Given the description of an element on the screen output the (x, y) to click on. 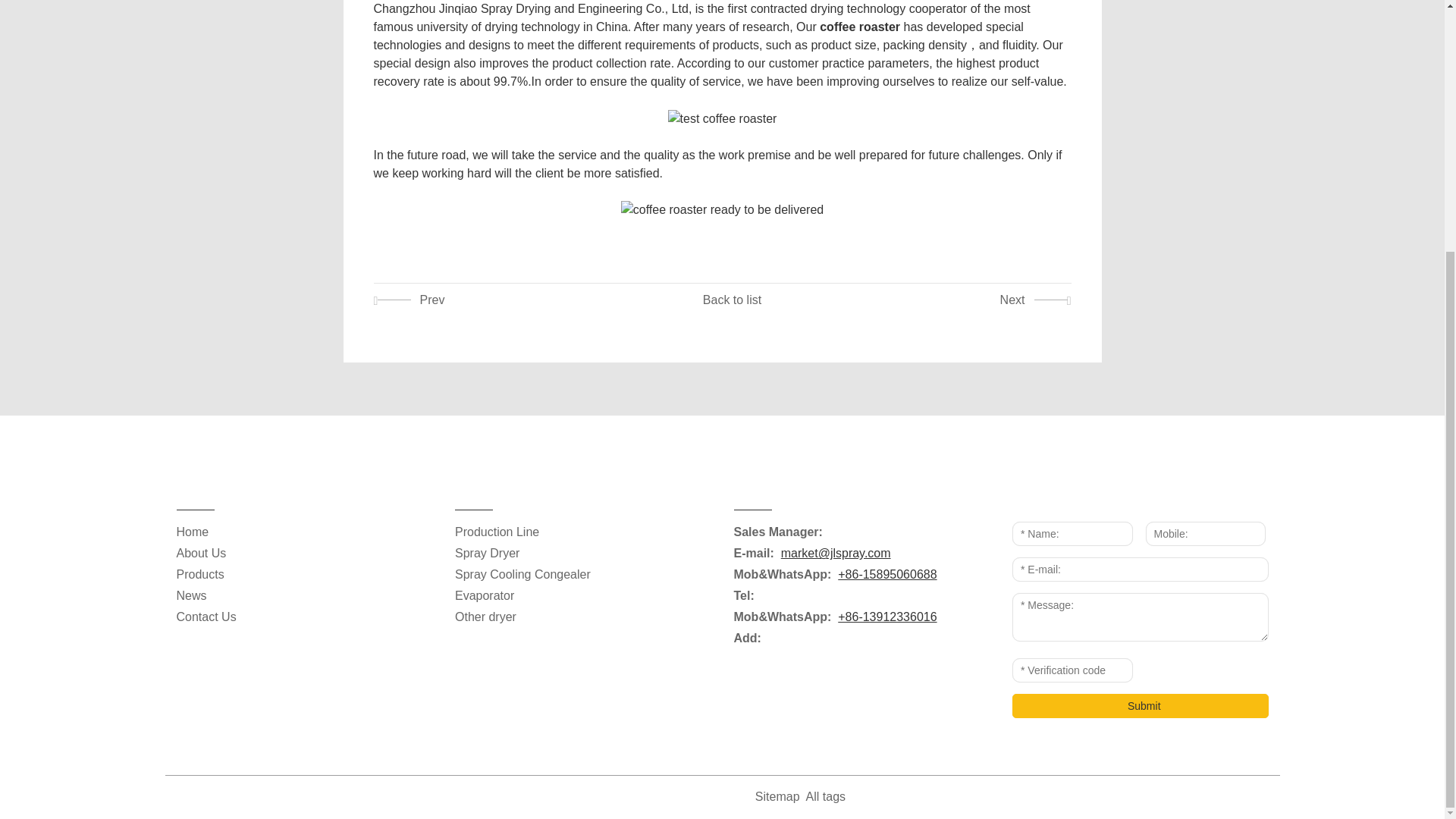
Spray congealer can improve the capacity (938, 299)
Submit (1139, 705)
test coffee roaster  (722, 118)
How to guarantee the stable output of food spray dryer? (505, 299)
coffee roaster ready to be delivered (722, 209)
